Given the description of an element on the screen output the (x, y) to click on. 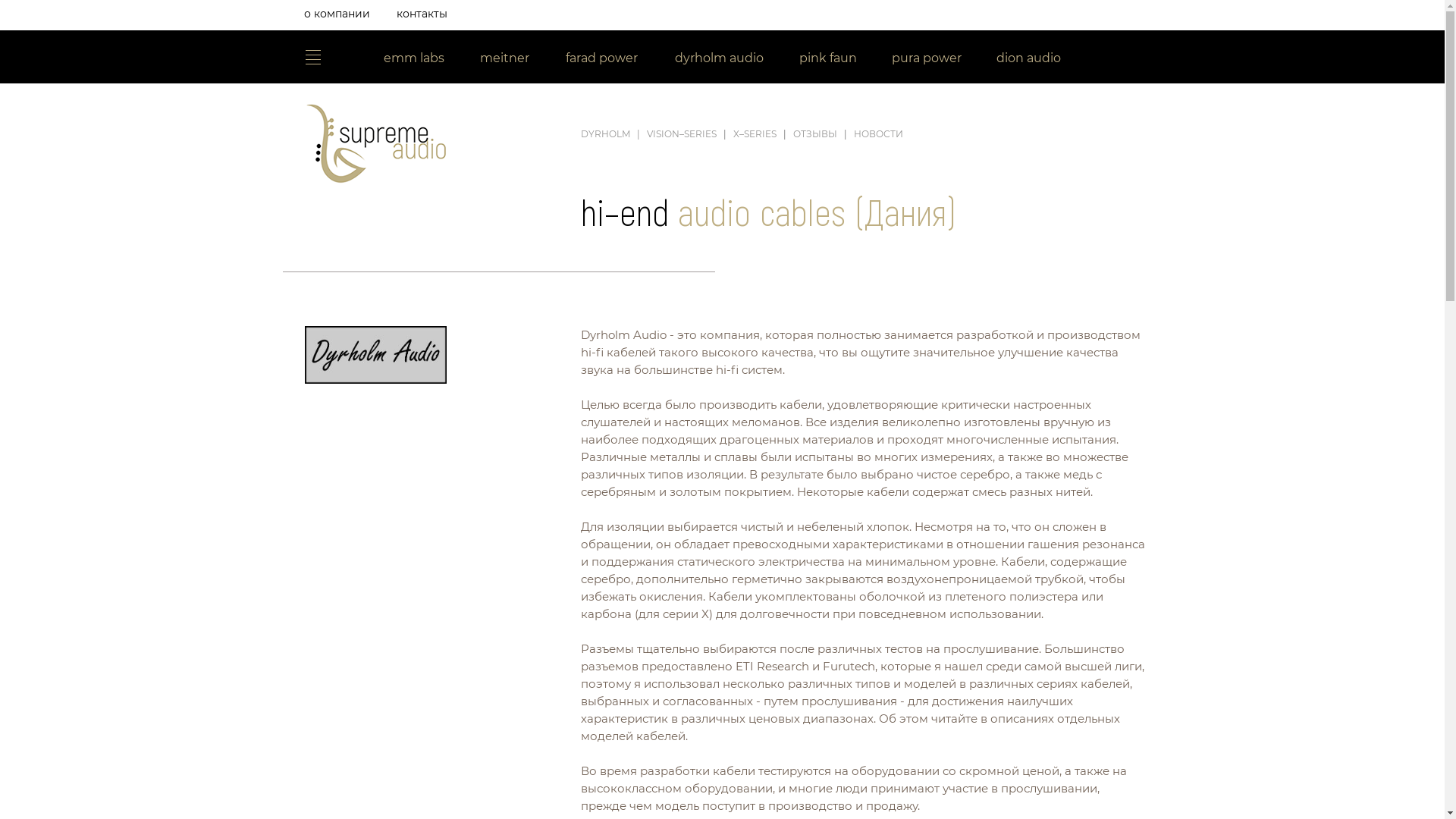
farad power Element type: text (601, 59)
pink faun Element type: text (827, 59)
dyrholm audio Element type: text (718, 59)
meitner Element type: text (504, 59)
pura power Element type: text (926, 59)
dion audio Element type: text (1029, 59)
LOGO BRANDS Element type: hover (312, 57)
DYRHOLM   | Element type: text (610, 133)
emm labs Element type: text (414, 59)
